Given the description of an element on the screen output the (x, y) to click on. 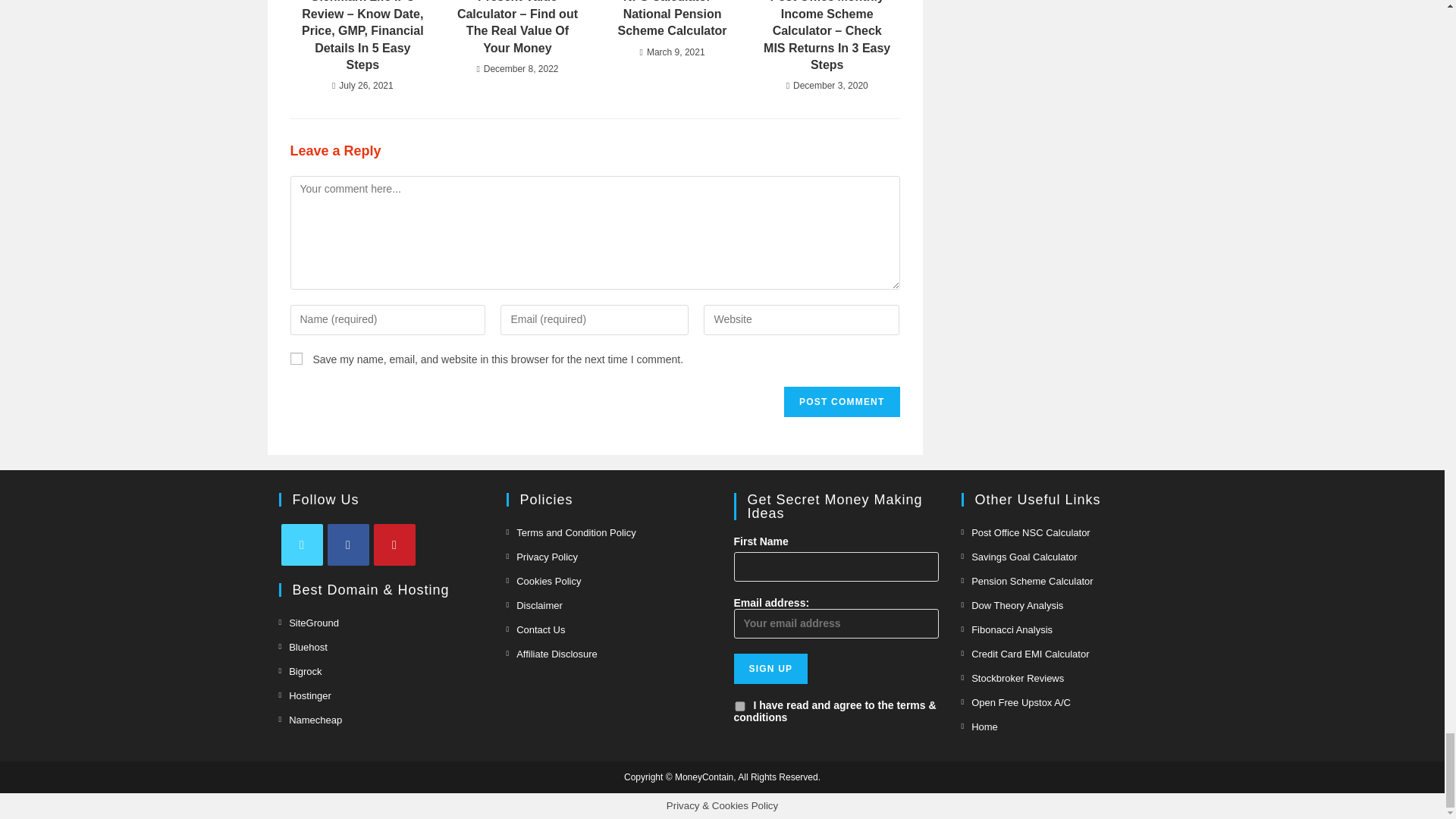
yes (295, 358)
1 (739, 706)
Sign up (770, 668)
Post Comment (841, 401)
